Given the description of an element on the screen output the (x, y) to click on. 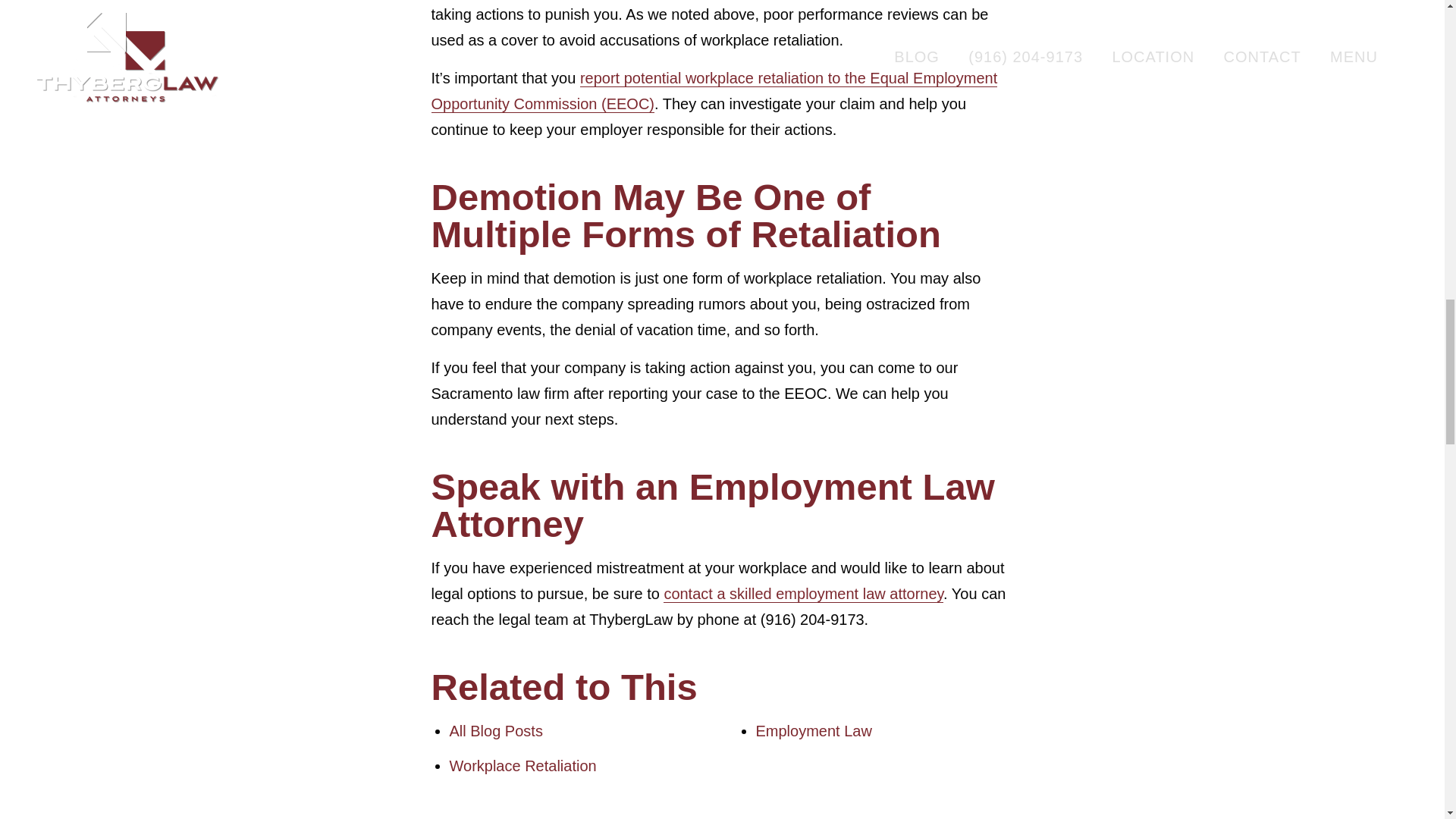
All Blog Posts (494, 730)
contact a skilled employment law attorney (803, 593)
Employment Law (812, 730)
Workplace Retaliation (521, 765)
